Given the description of an element on the screen output the (x, y) to click on. 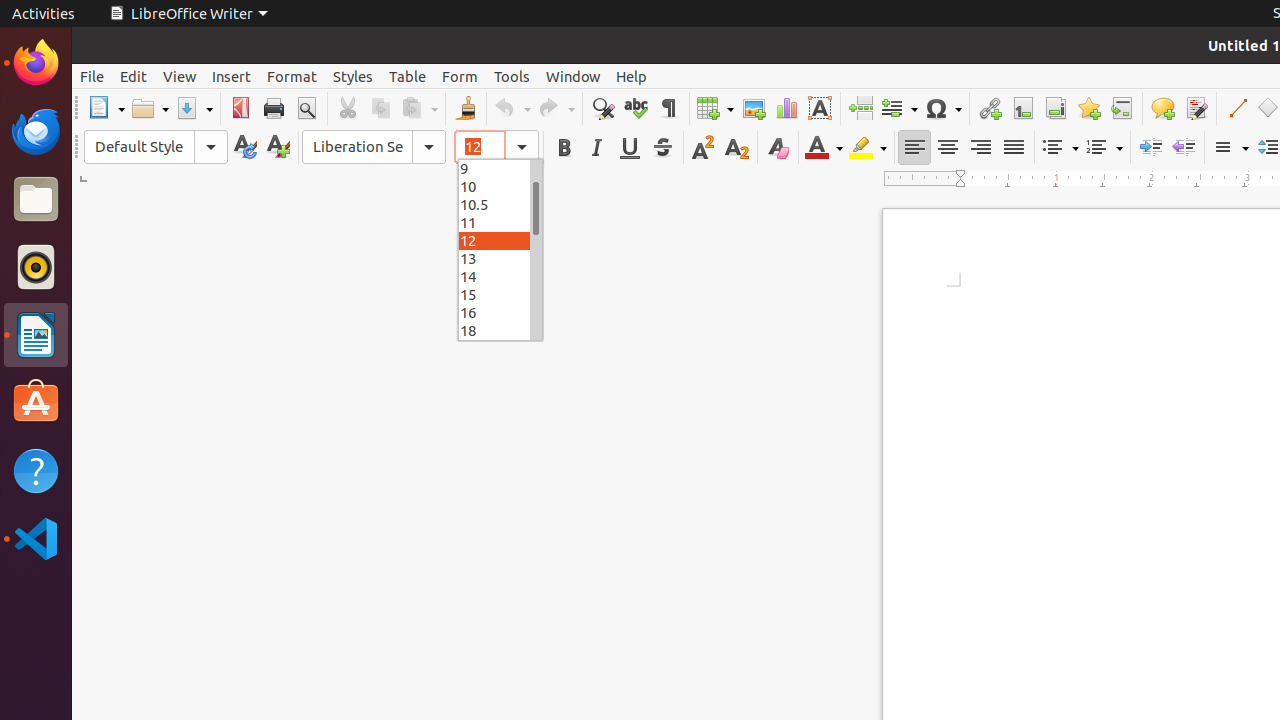
Right Element type: toggle-button (980, 147)
Help Element type: push-button (36, 470)
10.5 Element type: list-item (500, 204)
